Given the description of an element on the screen output the (x, y) to click on. 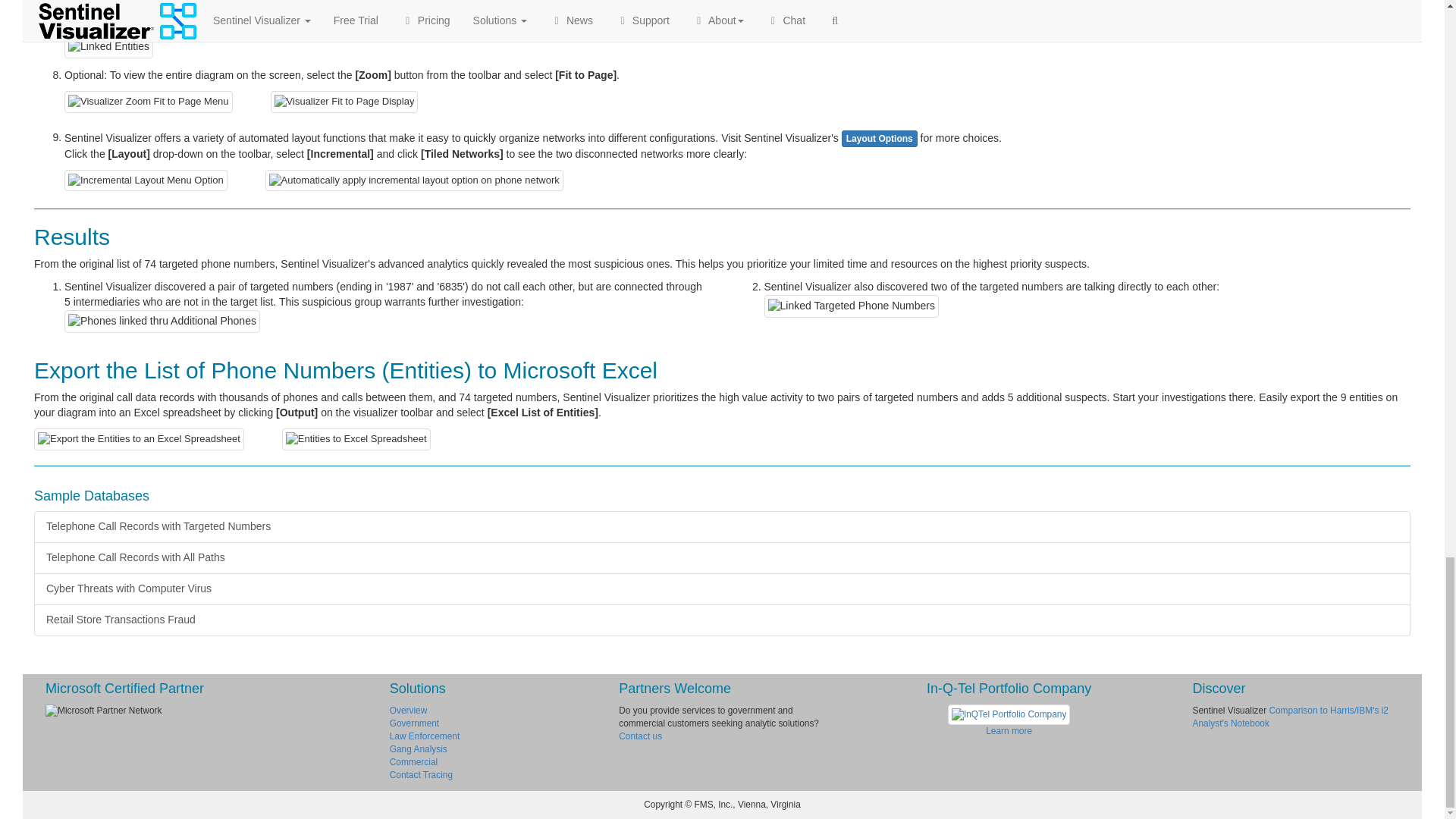
InQTel Portfolio Company (1008, 714)
Linked Targeted Phone Numbers (851, 305)
Phones linked thru Additional Phones (162, 321)
Export the Entities to an Excel Spreadsheet (138, 439)
Microsoft Partner Network (205, 710)
Visualizer Fit to Page Display (344, 101)
Entities to Excel Spreadsheet (356, 439)
Incremental Layout Menu Option (145, 180)
Visualizer Zoom Fit to Page Menu (148, 101)
